Given the description of an element on the screen output the (x, y) to click on. 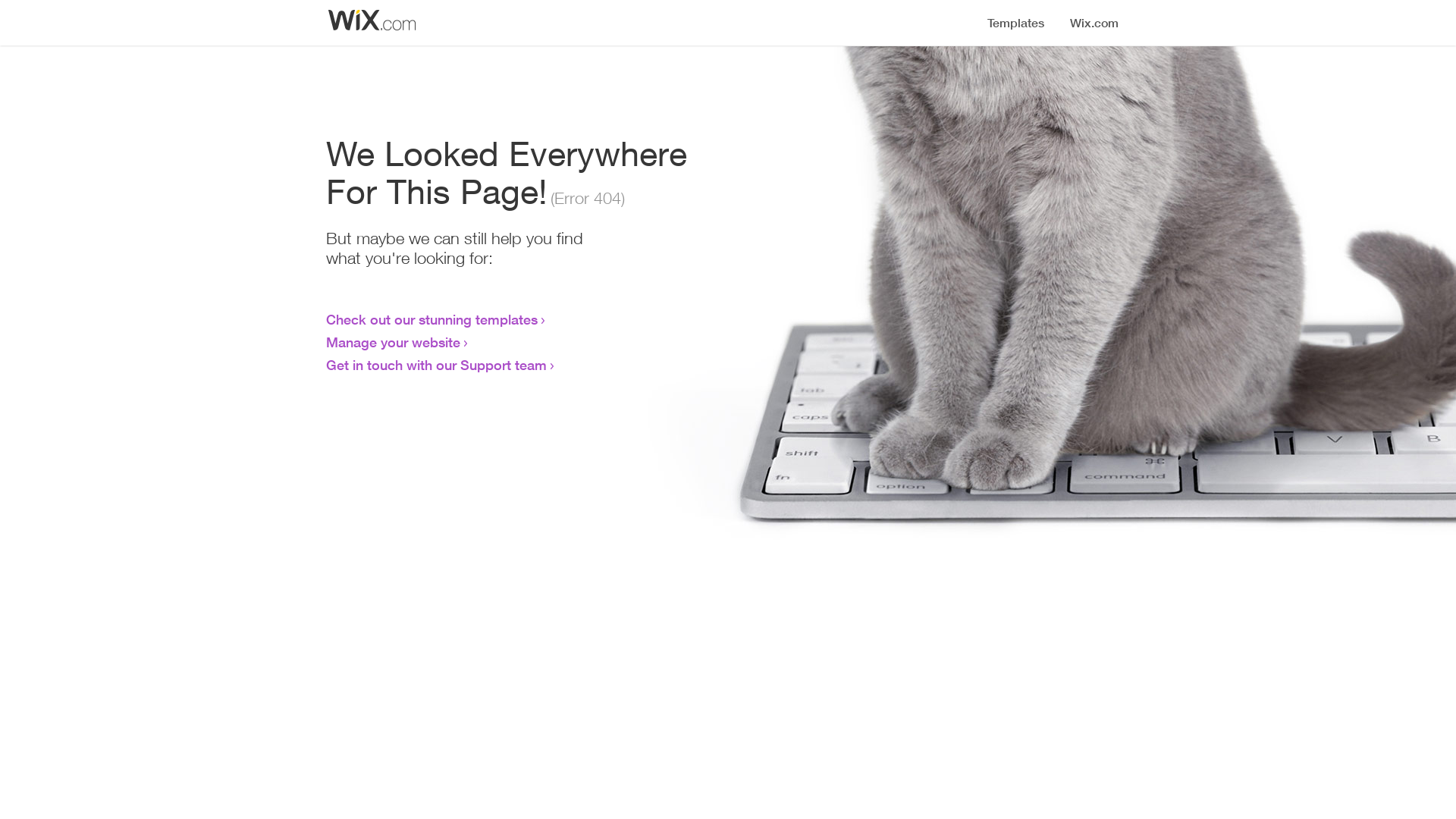
Get in touch with our Support team Element type: text (436, 364)
Manage your website Element type: text (393, 341)
Check out our stunning templates Element type: text (431, 318)
